Given the description of an element on the screen output the (x, y) to click on. 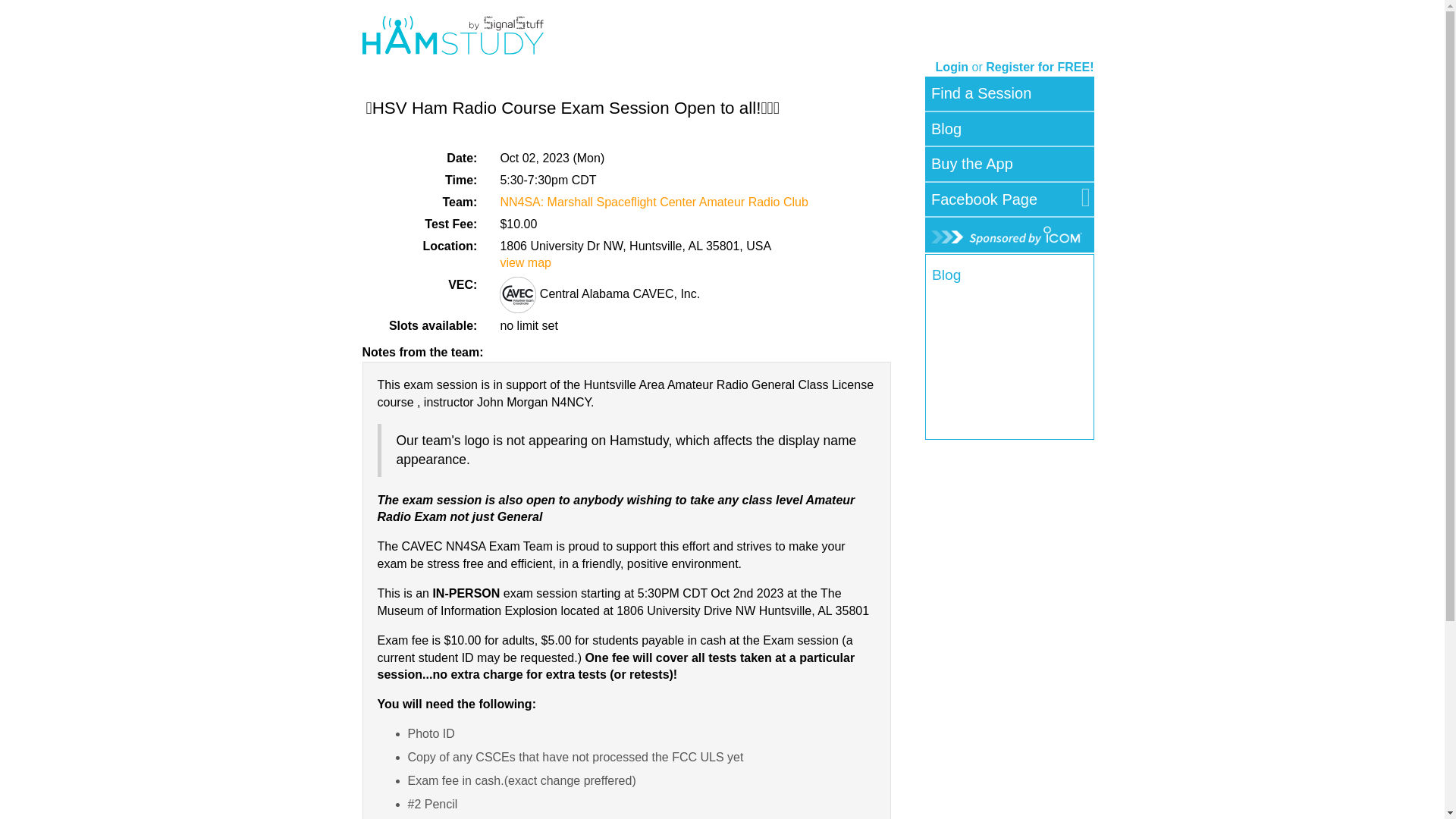
Login (952, 66)
view map (525, 262)
Register for FREE! (1039, 66)
Blog (946, 129)
Buy the App (971, 163)
Facebook Page (983, 199)
NN4SA: Marshall Spaceflight Center Amateur Radio Club (653, 201)
Find a Session (980, 93)
